Given the description of an element on the screen output the (x, y) to click on. 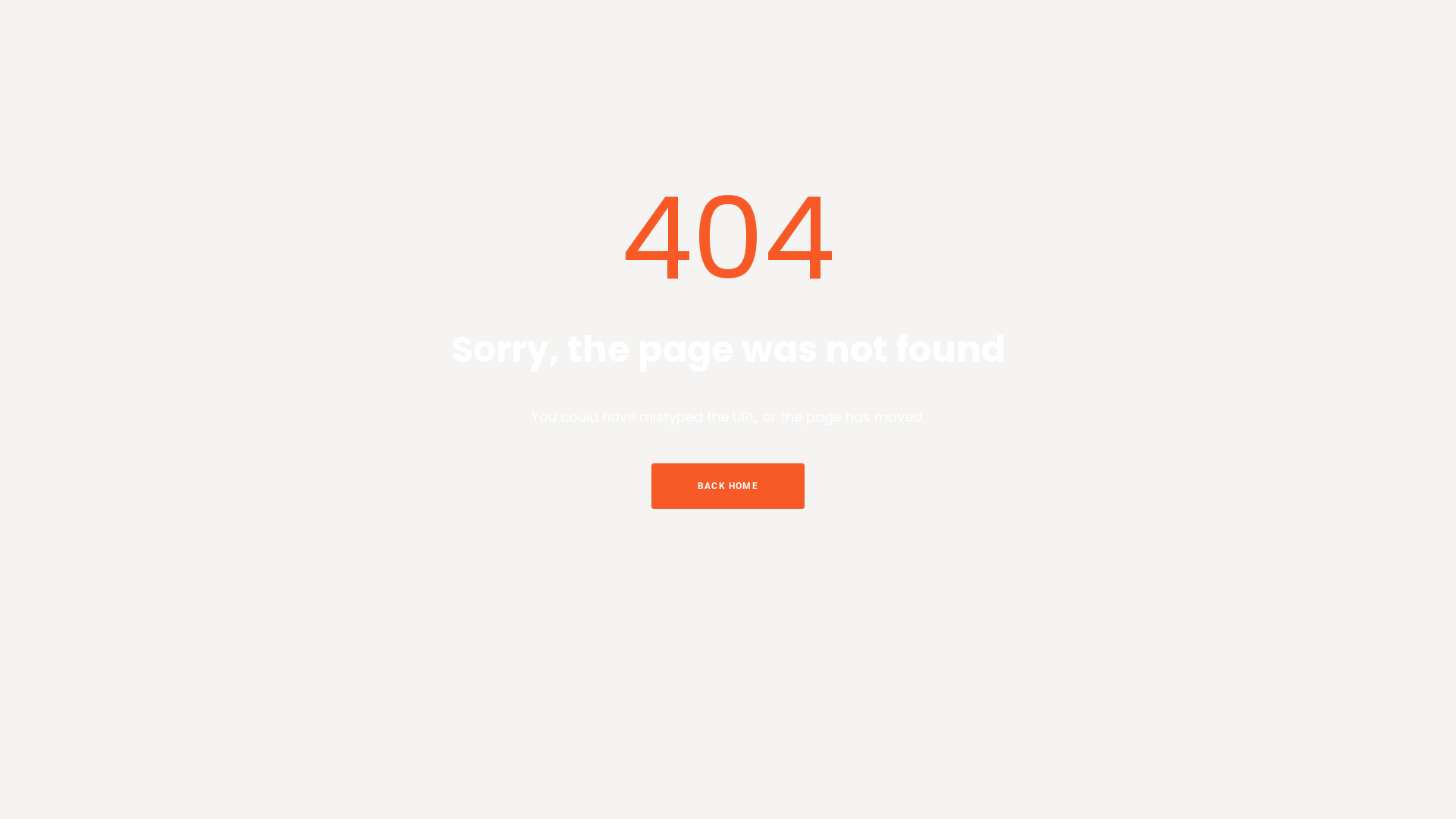
BACK HOME Element type: text (727, 485)
